Given the description of an element on the screen output the (x, y) to click on. 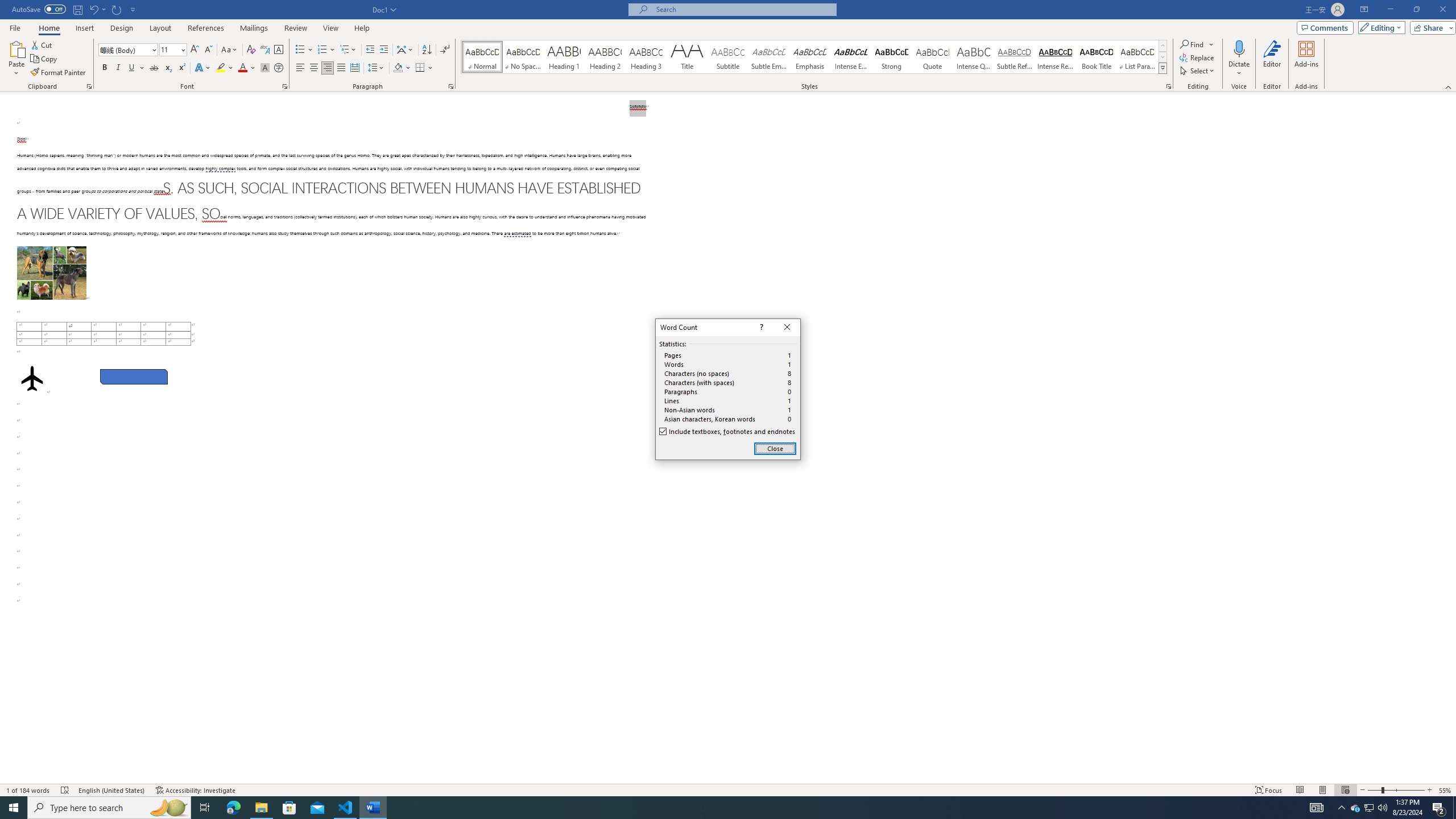
Context help (760, 327)
Quote (932, 56)
Heading 2 (605, 56)
